Given the description of an element on the screen output the (x, y) to click on. 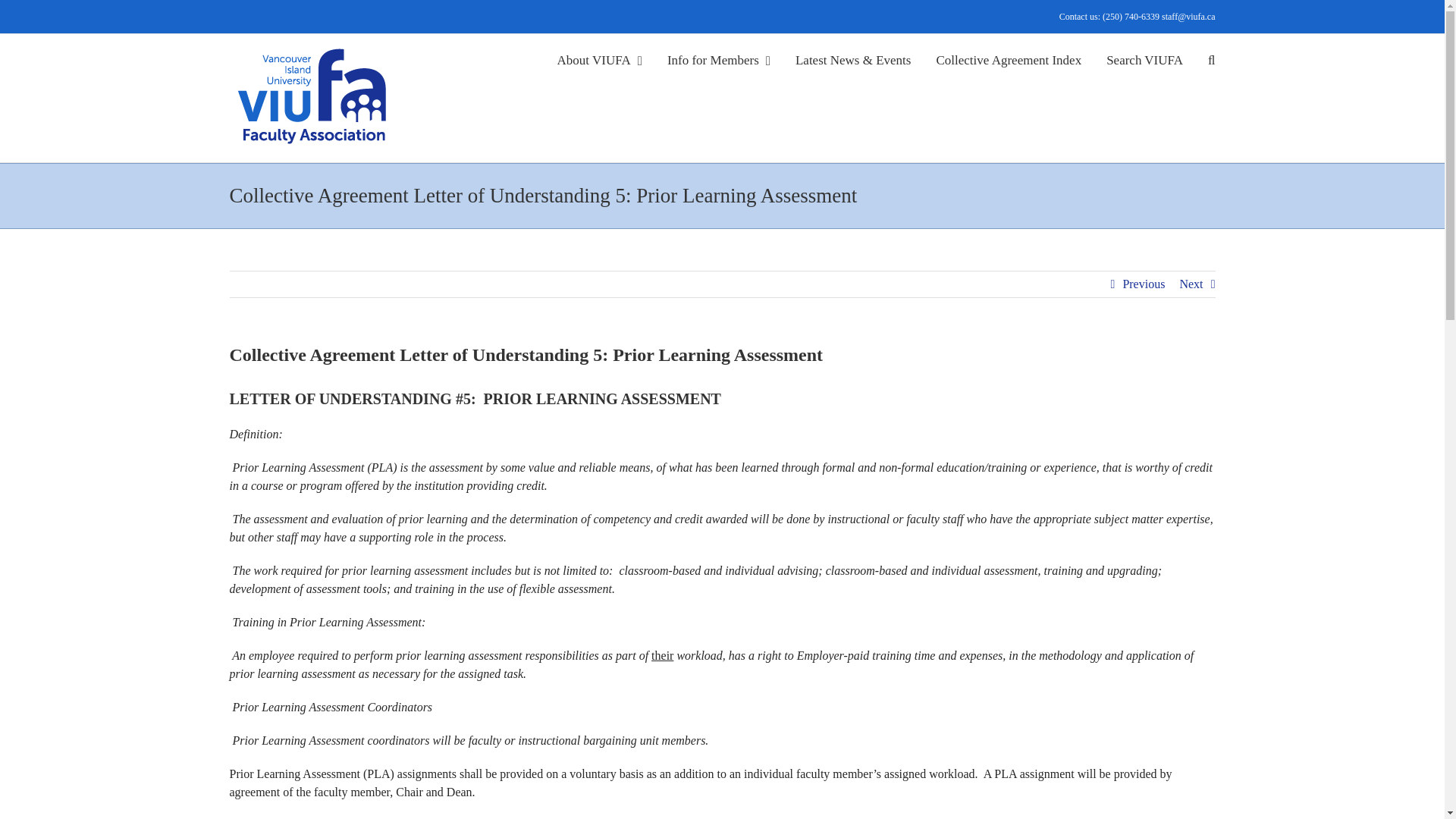
Info for Members (718, 58)
Next (1190, 284)
Search VIUFA (1144, 58)
About VIUFA (599, 58)
Previous (1143, 284)
Collective Agreement Index (1008, 58)
